Given the description of an element on the screen output the (x, y) to click on. 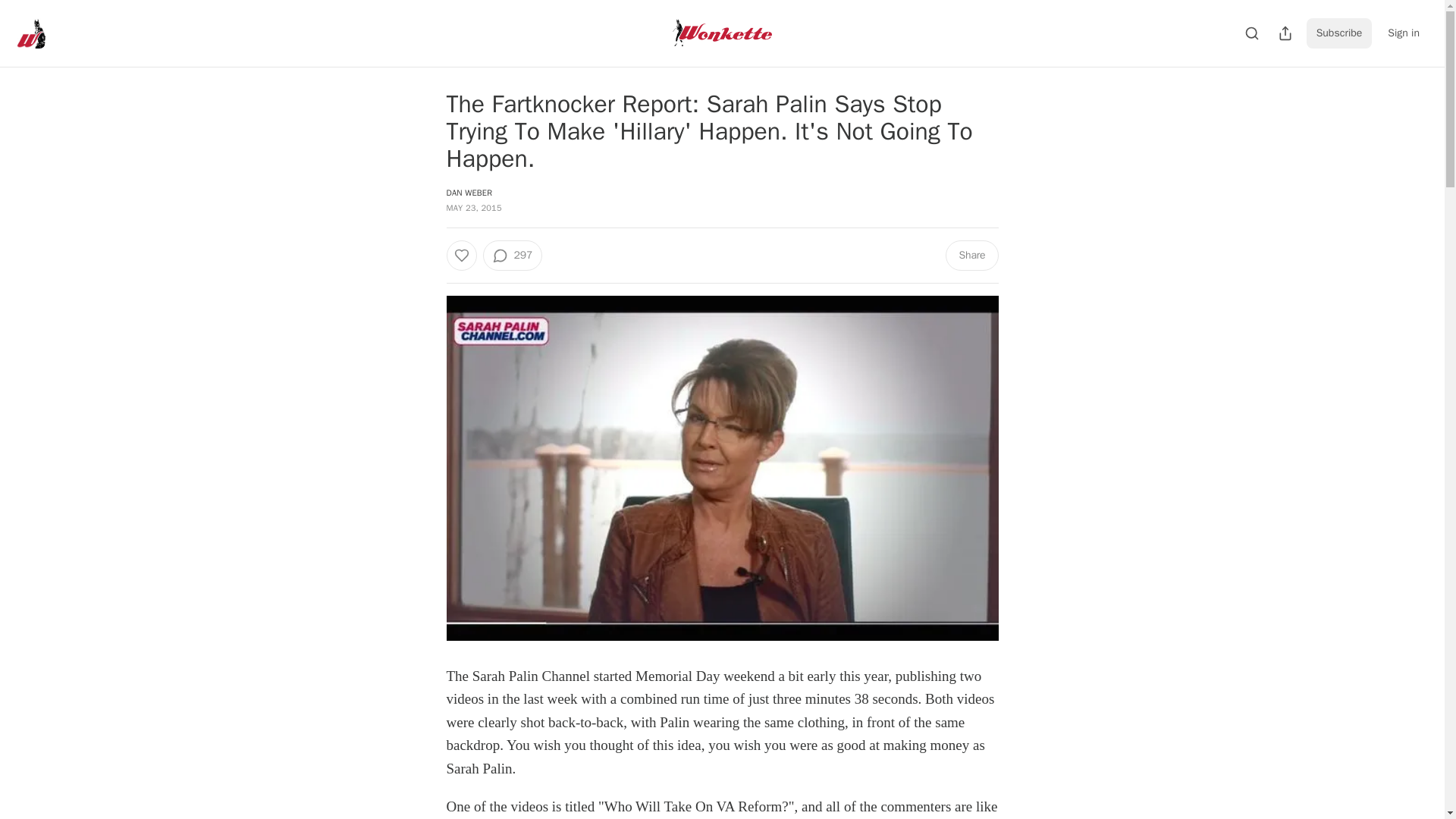
297 (511, 255)
Subscribe (1339, 33)
Share (970, 255)
DAN WEBER (468, 192)
Sign in (1403, 33)
